Given the description of an element on the screen output the (x, y) to click on. 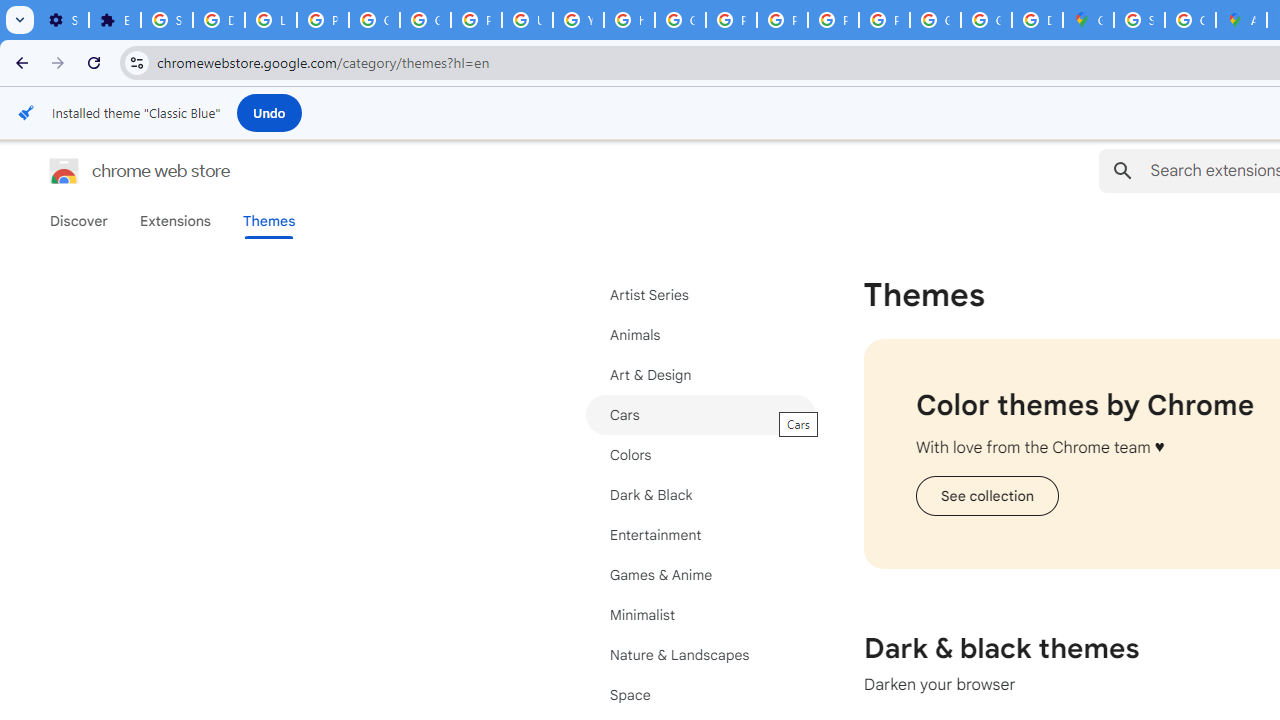
Games & Anime (700, 574)
Artist Series (700, 295)
Extensions (174, 221)
Chrome Web Store logo (63, 170)
Colors (700, 454)
Discover (79, 221)
Cars (700, 414)
https://scholar.google.com/ (629, 20)
Art & Design (700, 374)
Chrome Web Store logo chrome web store (118, 170)
